Given the description of an element on the screen output the (x, y) to click on. 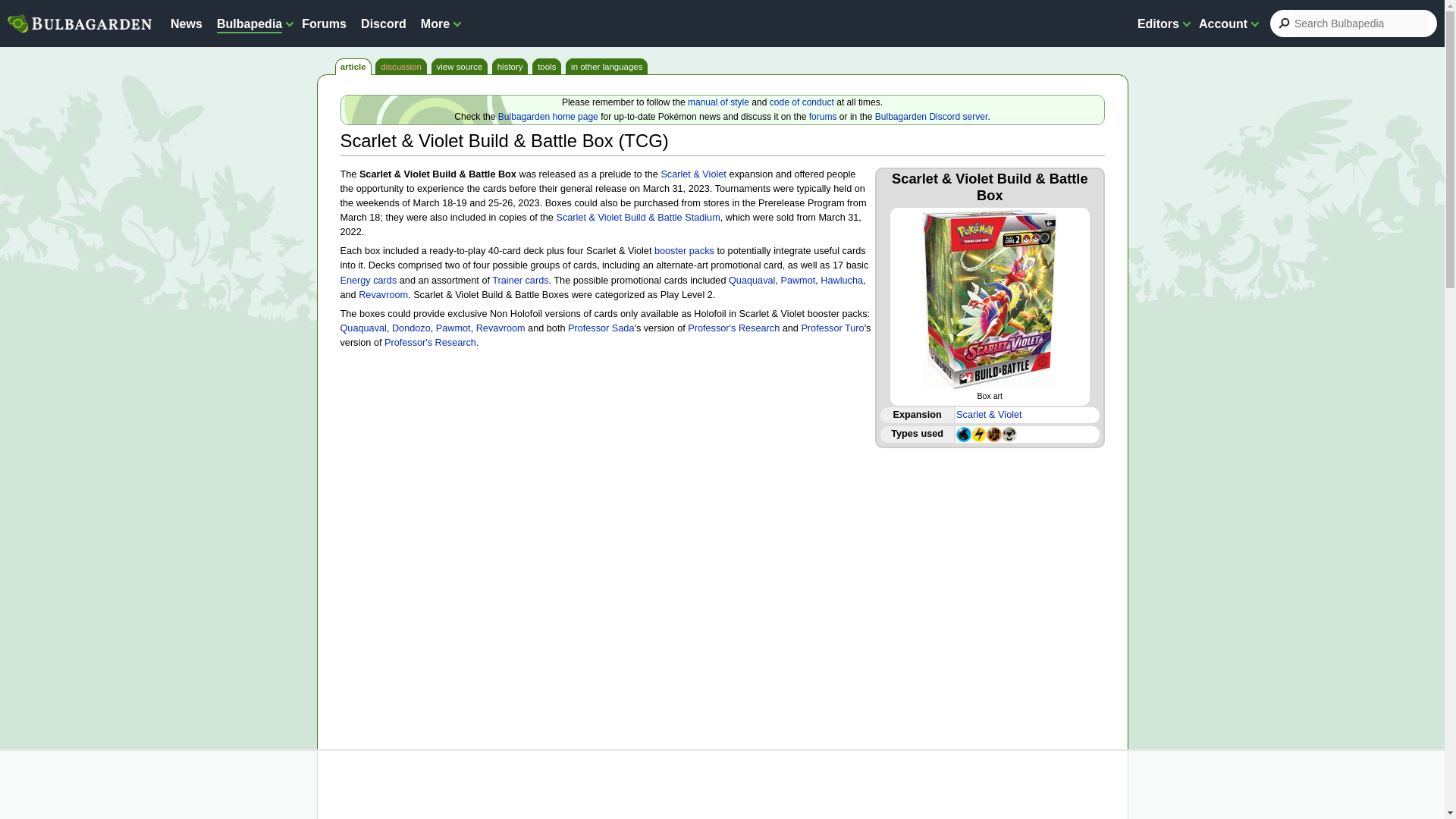
Water (963, 433)
Bulbapedia (249, 22)
Fighting (994, 433)
Bulbapedia:Manual of style (718, 102)
Lightning (979, 433)
Bulbapedia:Code of conduct (802, 102)
Metal (1008, 433)
